Given the description of an element on the screen output the (x, y) to click on. 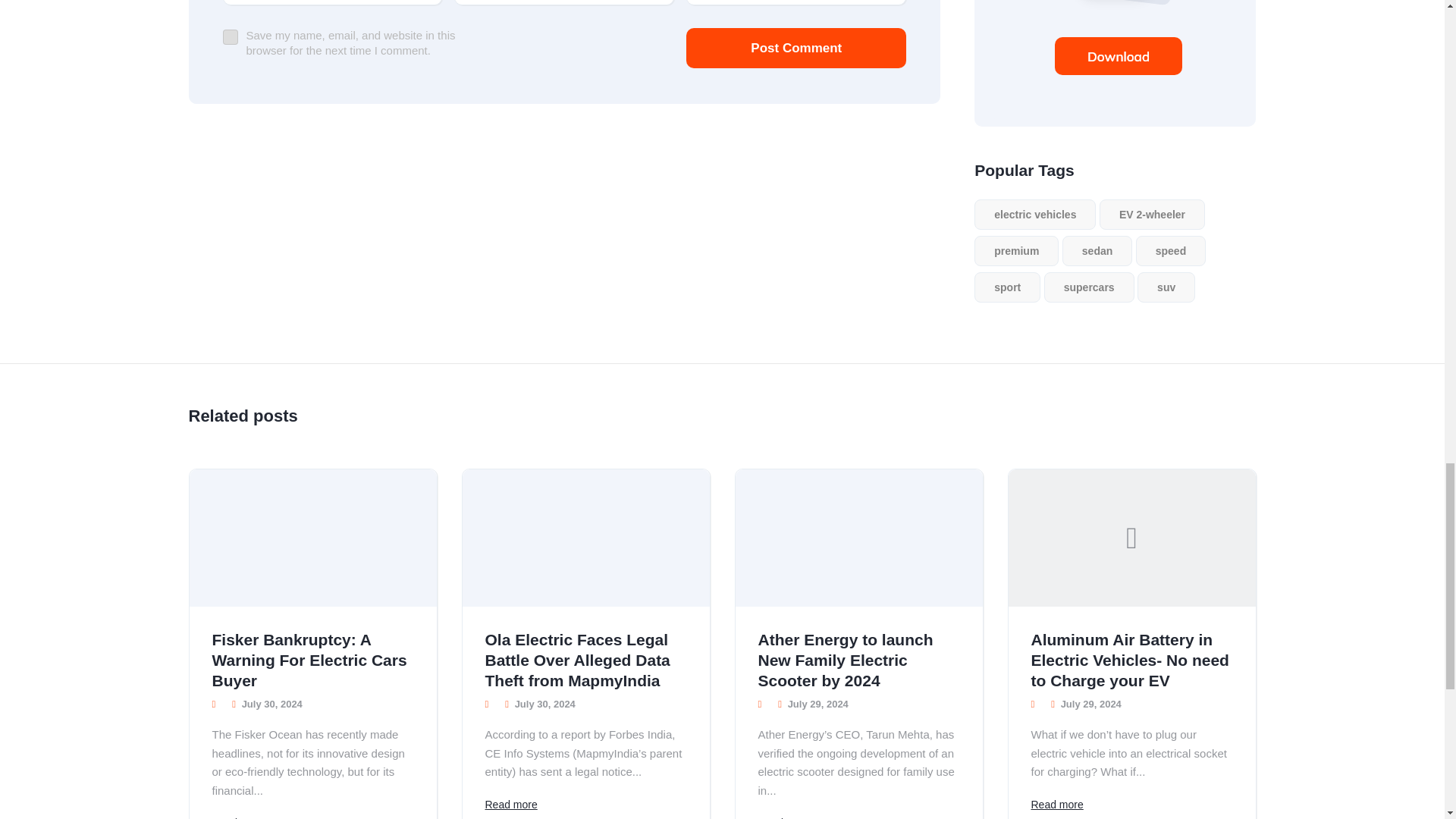
Post Comment (795, 47)
